Given the description of an element on the screen output the (x, y) to click on. 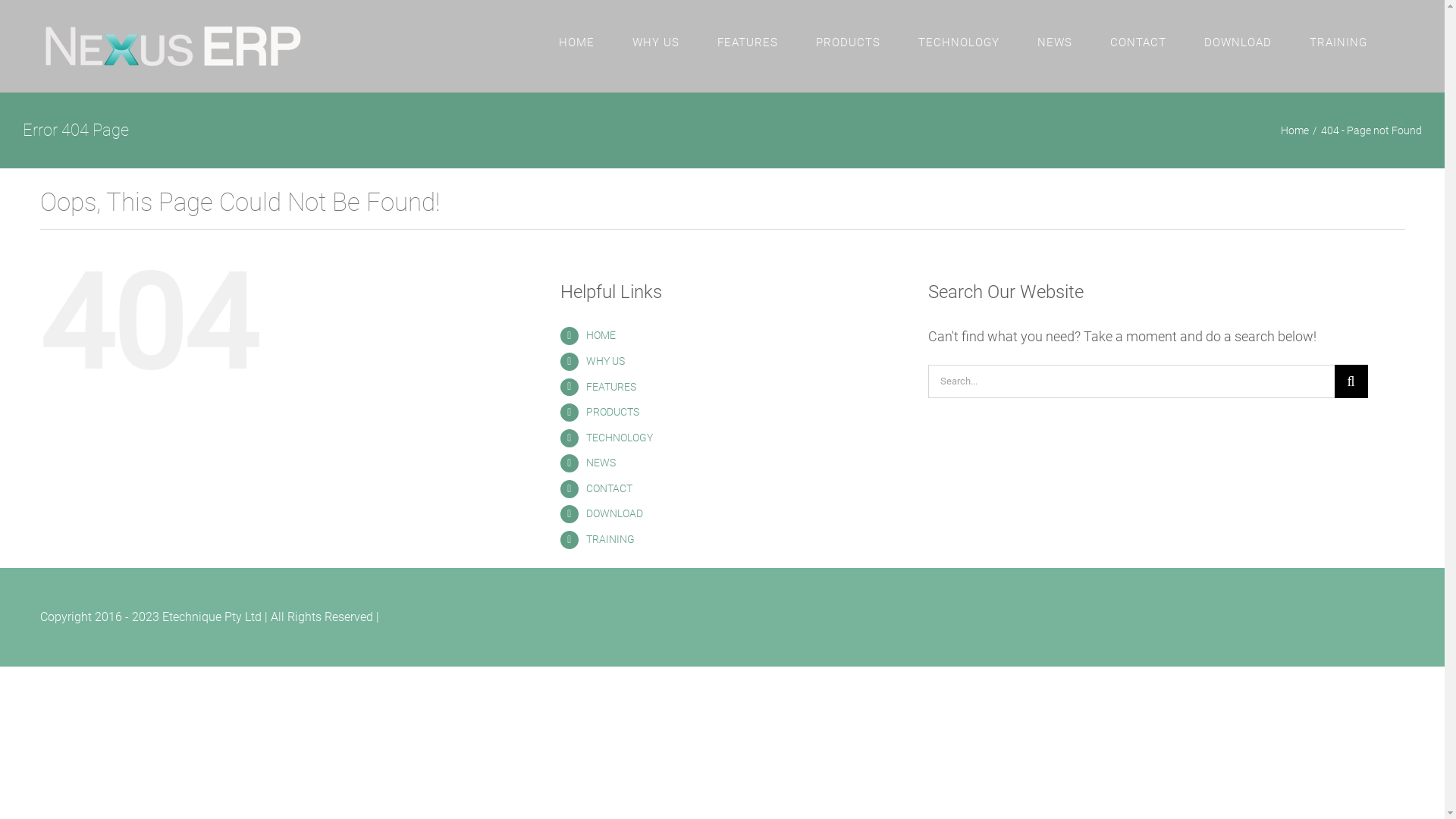
CONTACT Element type: text (609, 488)
FEATURES Element type: text (747, 42)
PRODUCTS Element type: text (847, 42)
TECHNOLOGY Element type: text (619, 437)
TRAINING Element type: text (1337, 42)
WHY US Element type: text (605, 360)
WHY US Element type: text (655, 42)
TRAINING Element type: text (610, 539)
DOWNLOAD Element type: text (1237, 42)
NEWS Element type: text (600, 462)
CONTACT Element type: text (1138, 42)
NEWS Element type: text (1054, 42)
Home Element type: text (1294, 130)
HOME Element type: text (600, 335)
FEATURES Element type: text (611, 386)
PRODUCTS Element type: text (612, 411)
DOWNLOAD Element type: text (614, 513)
TECHNOLOGY Element type: text (957, 42)
HOME Element type: text (575, 42)
